Given the description of an element on the screen output the (x, y) to click on. 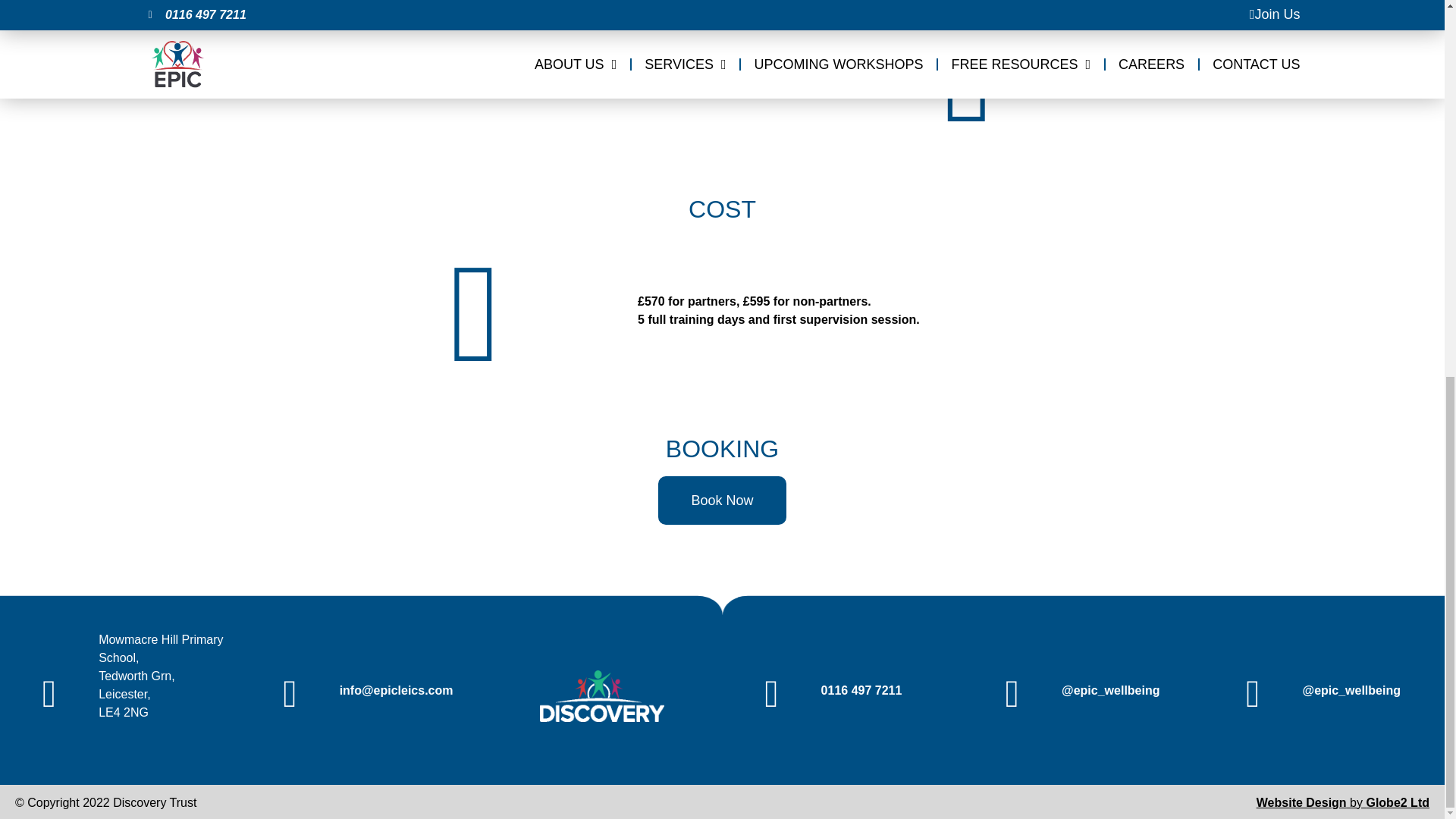
Website Design (1301, 802)
